Given the description of an element on the screen output the (x, y) to click on. 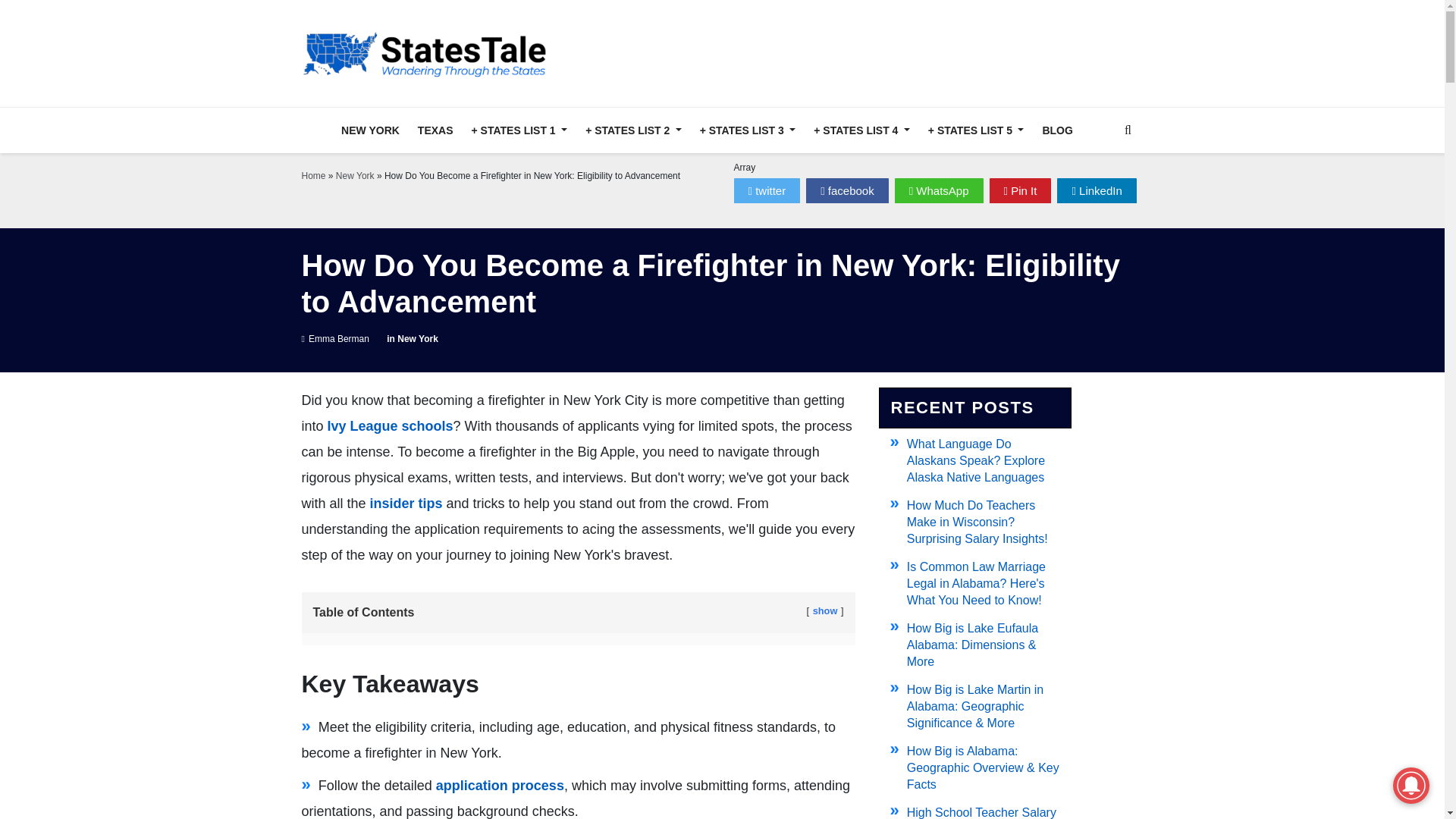
NEW YORK (370, 130)
States Tale (427, 53)
TEXAS (436, 130)
